Given the description of an element on the screen output the (x, y) to click on. 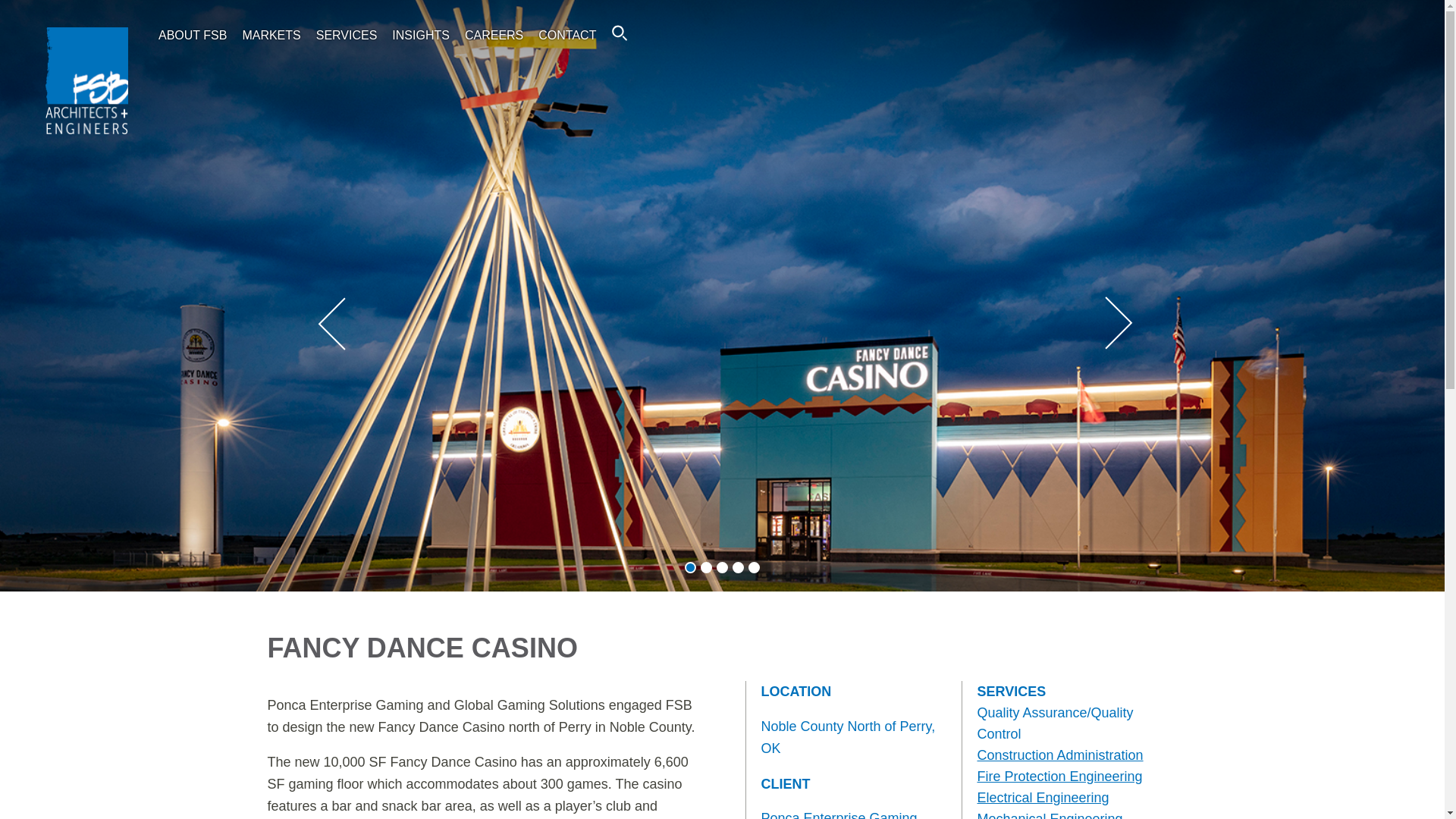
ABOUT FSB (192, 35)
MARKETS (270, 35)
